Given the description of an element on the screen output the (x, y) to click on. 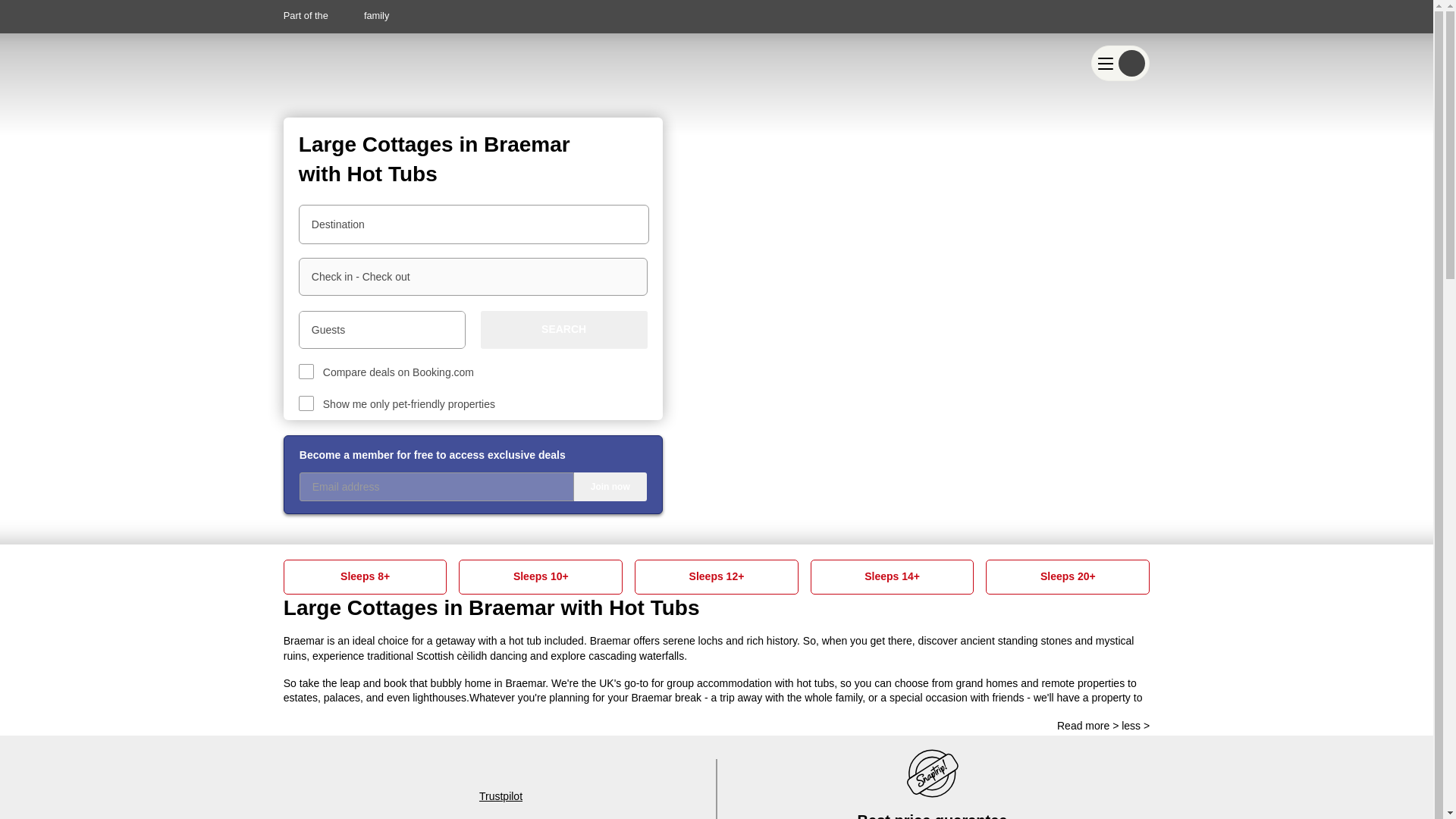
Part of the family (336, 15)
